Given the description of an element on the screen output the (x, y) to click on. 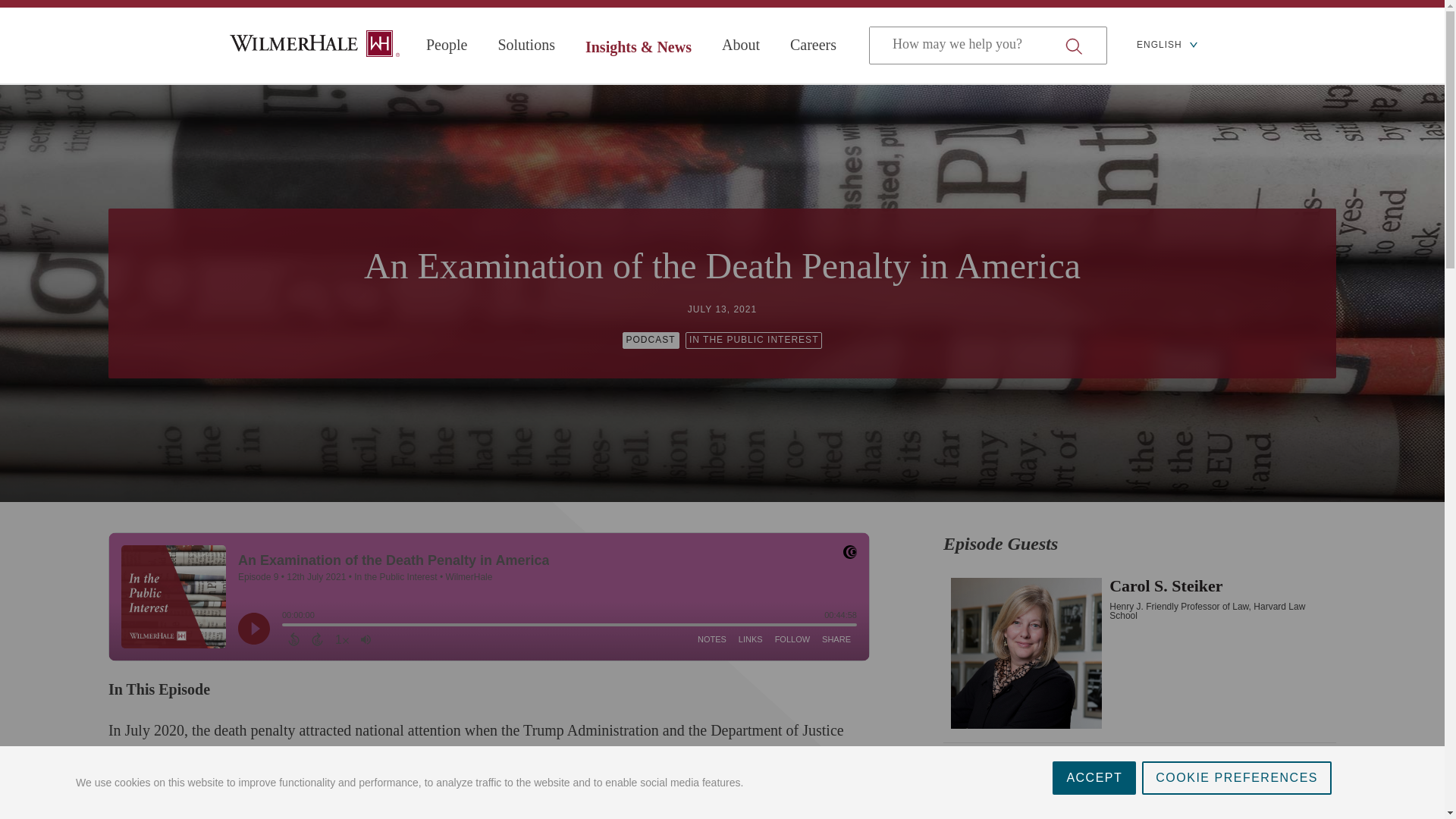
John Walsh (643, 807)
IN THE PUBLIC INTEREST (753, 340)
Solutions (525, 45)
Seth Waxman (464, 809)
ENGLISH (1166, 45)
ACCEPT (1093, 805)
Careers (812, 45)
Seth P. Waxman (1138, 759)
COOKIE PREFERENCES (1236, 789)
People (446, 45)
About (741, 45)
